Given the description of an element on the screen output the (x, y) to click on. 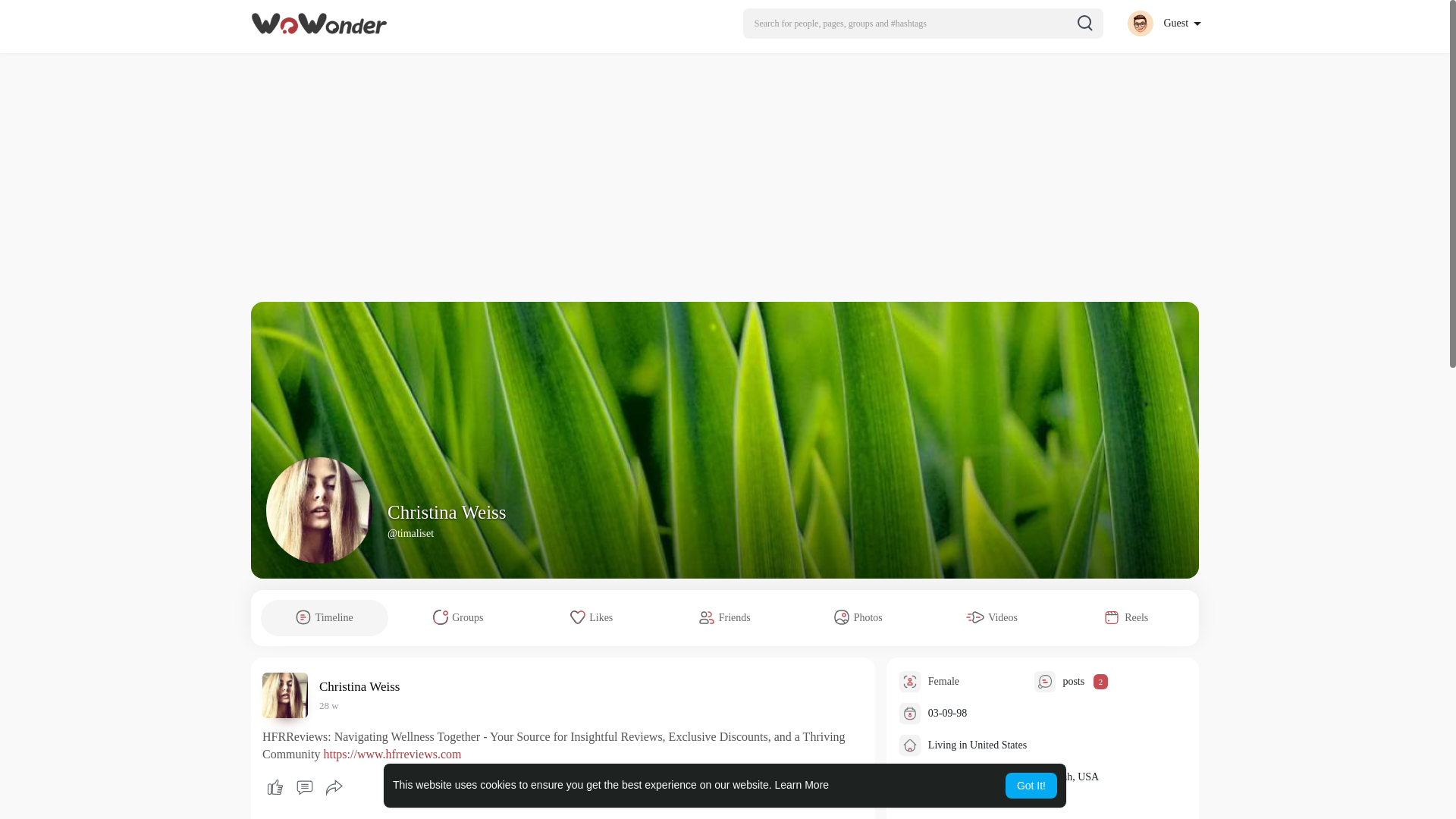
Christina Weiss (446, 512)
28 w (328, 705)
Timeline (324, 617)
Learn More (801, 784)
Share (334, 787)
Reels (1125, 617)
Got It! (1031, 785)
Christina Weiss (361, 686)
Comments (304, 787)
Likes (591, 617)
Groups (457, 617)
Photos (857, 617)
Videos (991, 617)
Guest (1163, 23)
